Given the description of an element on the screen output the (x, y) to click on. 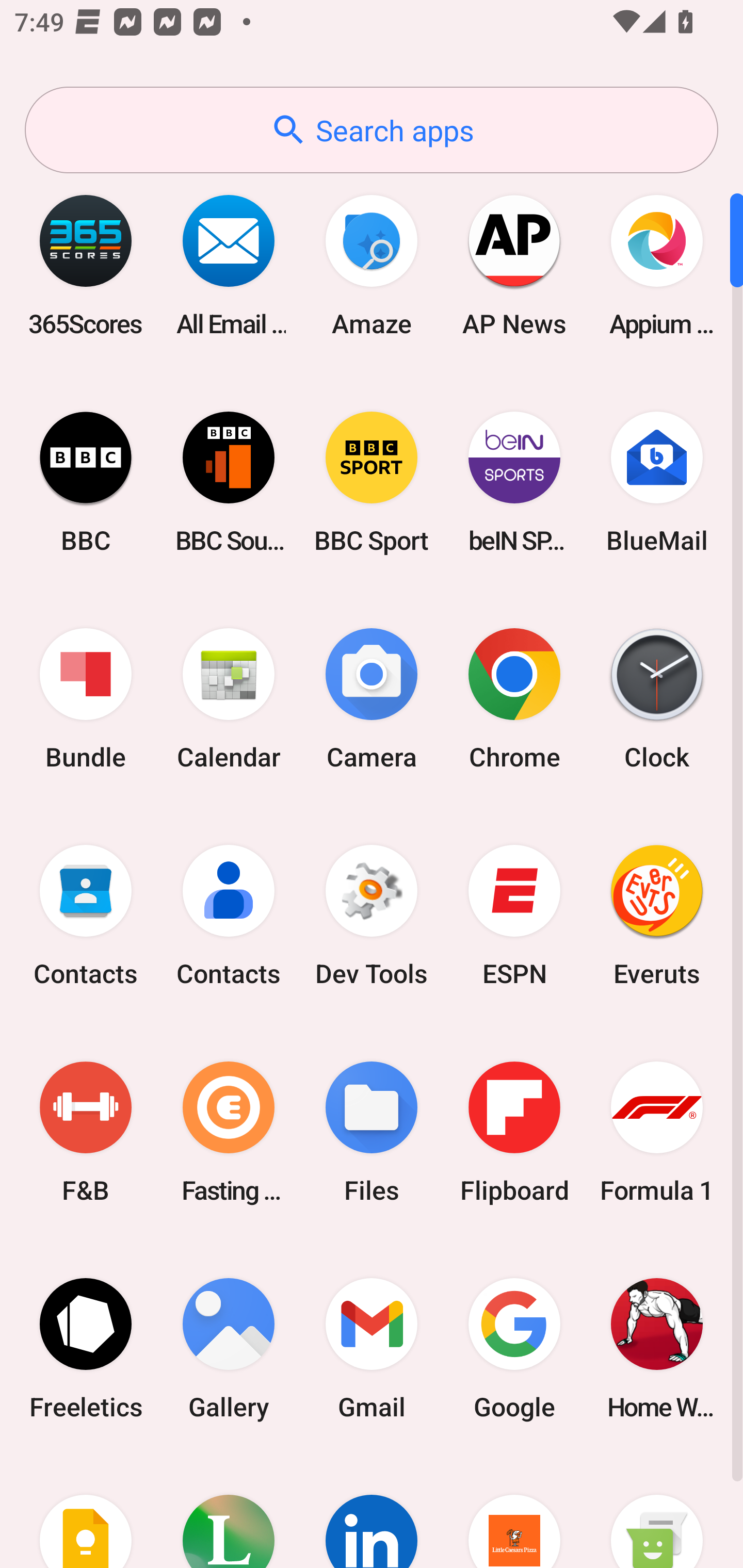
  Search apps (371, 130)
365Scores (85, 264)
All Email Connect (228, 264)
Amaze (371, 264)
AP News (514, 264)
Appium Settings (656, 264)
BBC (85, 482)
BBC Sounds (228, 482)
BBC Sport (371, 482)
beIN SPORTS (514, 482)
BlueMail (656, 482)
Bundle (85, 699)
Calendar (228, 699)
Camera (371, 699)
Chrome (514, 699)
Clock (656, 699)
Contacts (85, 915)
Contacts (228, 915)
Dev Tools (371, 915)
ESPN (514, 915)
Everuts (656, 915)
F&B (85, 1131)
Fasting Coach (228, 1131)
Files (371, 1131)
Flipboard (514, 1131)
Formula 1 (656, 1131)
Freeletics (85, 1348)
Gallery (228, 1348)
Gmail (371, 1348)
Google (514, 1348)
Home Workout (656, 1348)
